Given the description of an element on the screen output the (x, y) to click on. 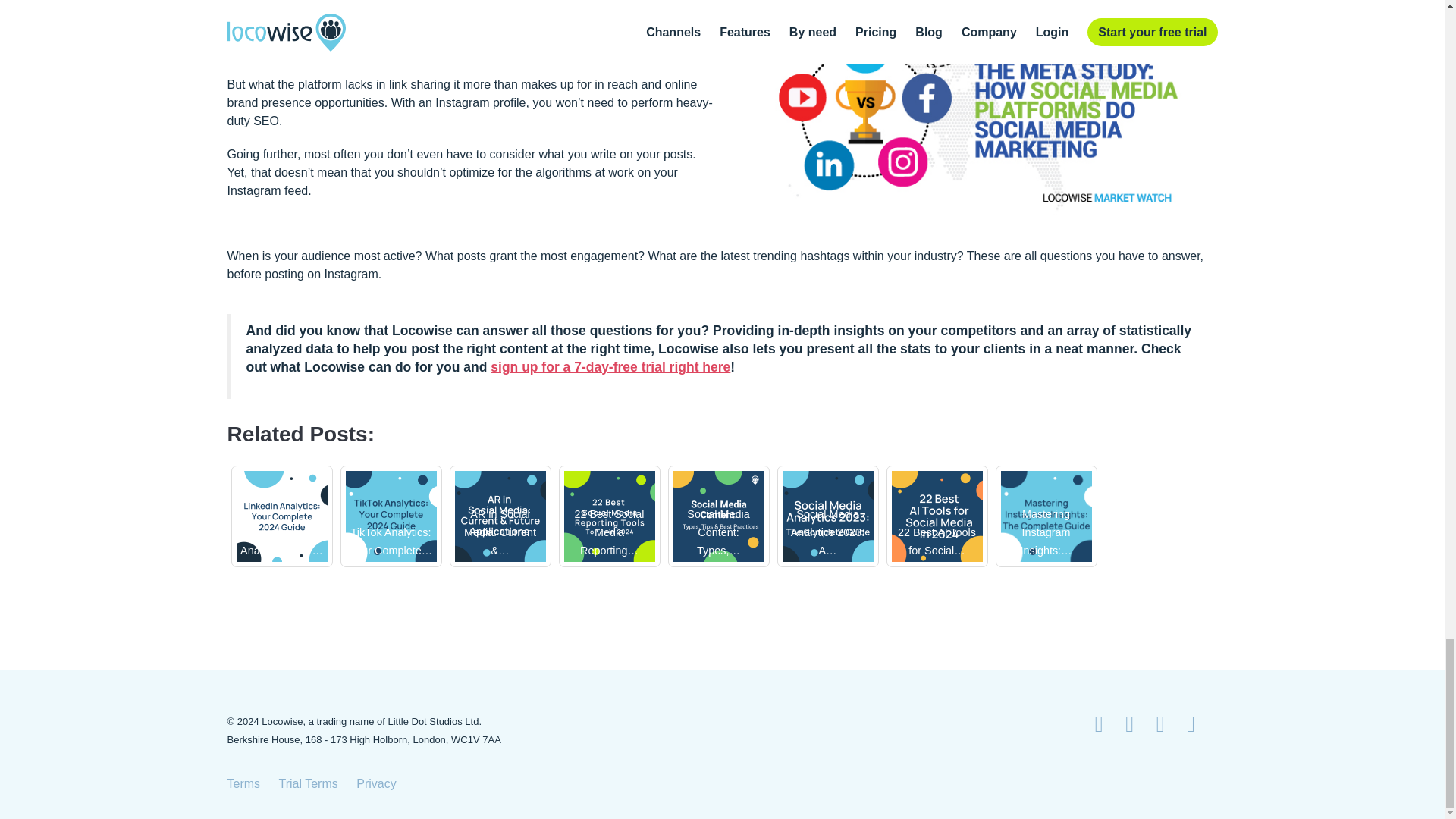
22 Best Social Media Reporting Tools to Try in 2024 (609, 515)
sign up for a 7-day-free trial right here (610, 366)
Mastering Instagram Insights: The Complete Guide (1046, 515)
TikTok Analytics: Your Complete 2024 Guide (391, 515)
Social Media Analytics 2023: A Comprehensive Guide (828, 515)
Social Media Content: Types, Tips and Best Practices (718, 515)
LinkedIn Analytics: Your Complete 2024 Guide (281, 515)
22 Best AI Tools for Social Media in 2024 (936, 515)
